Given the description of an element on the screen output the (x, y) to click on. 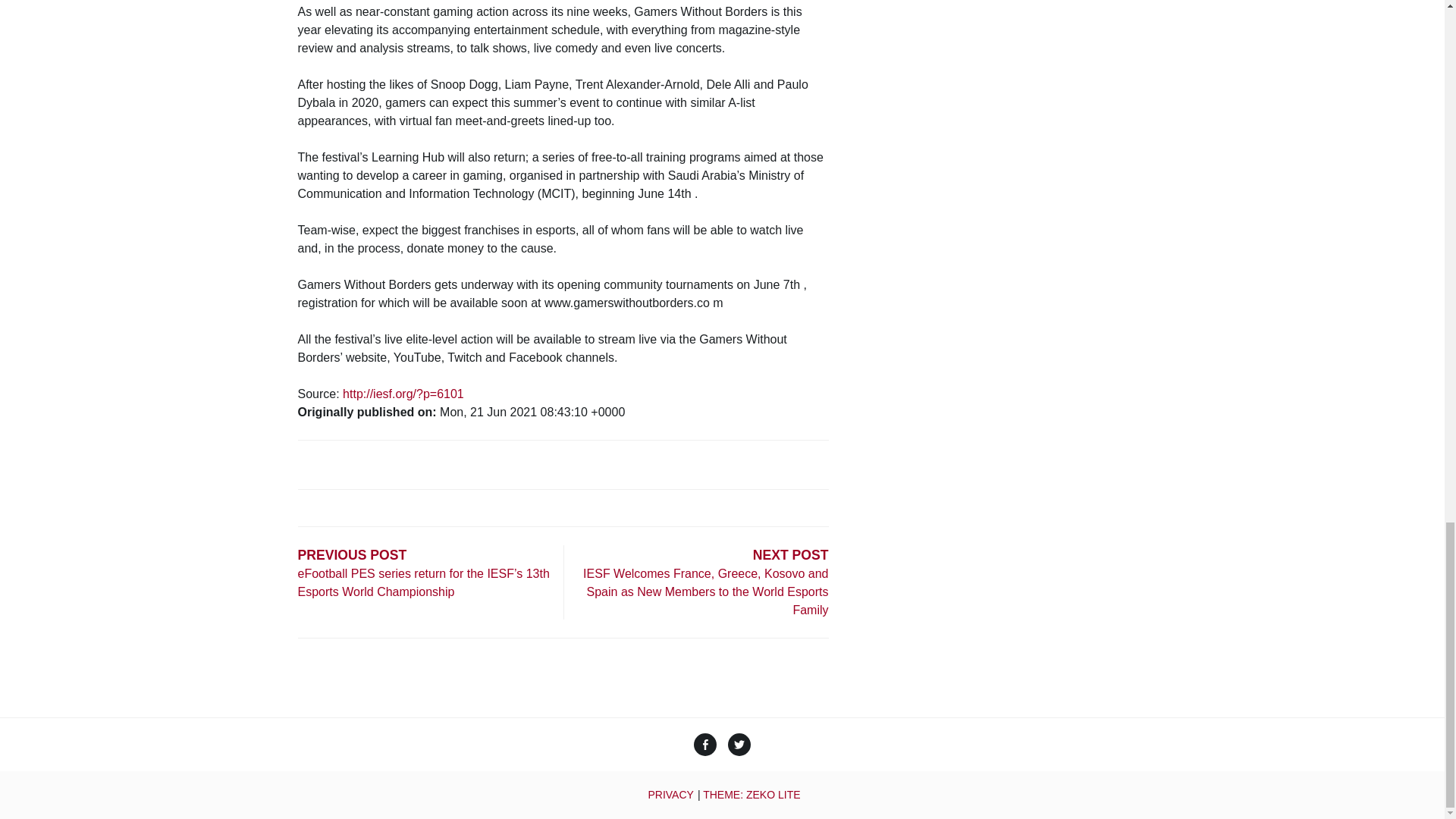
PRIVACY (670, 795)
Facebook (705, 746)
THEME: ZEKO LITE (751, 795)
Twitter (738, 746)
